Given the description of an element on the screen output the (x, y) to click on. 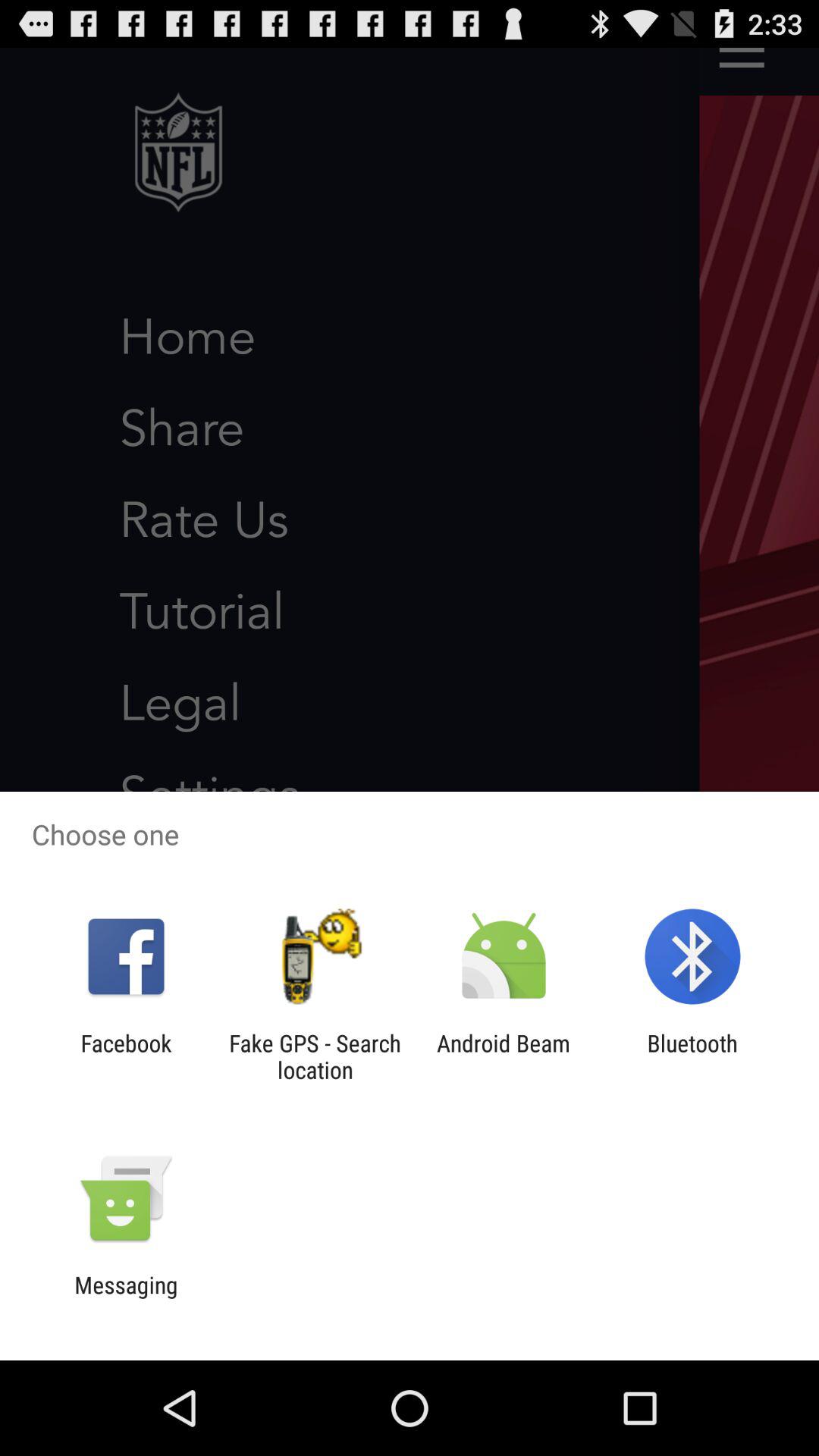
choose app to the left of the bluetooth item (503, 1056)
